Given the description of an element on the screen output the (x, y) to click on. 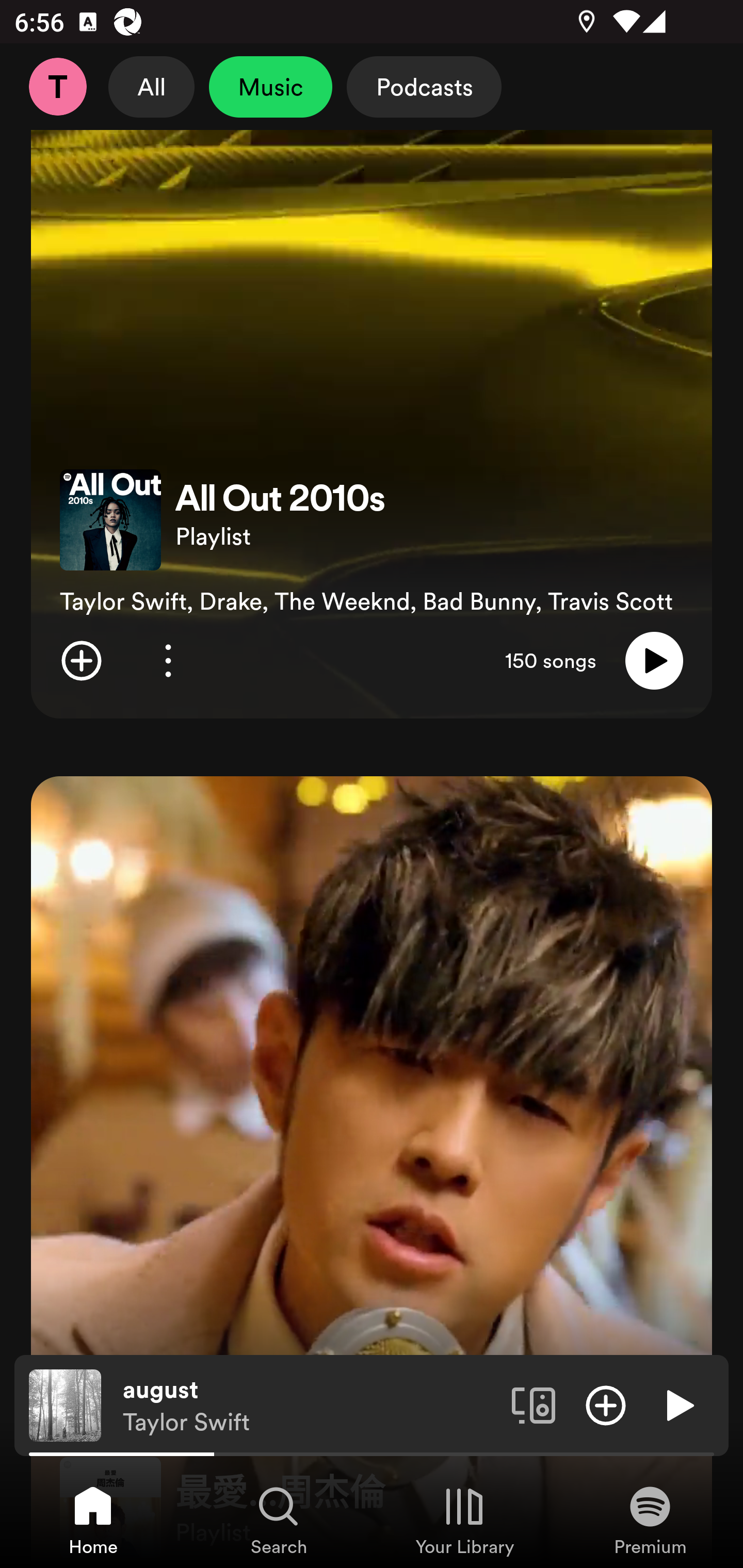
Profile (57, 86)
All Select All (151, 86)
Music Unselect Music (270, 86)
Podcasts Select Podcasts (423, 86)
Add item (80, 660)
Play (653, 660)
august Taylor Swift (309, 1405)
The cover art of the currently playing track (64, 1404)
Connect to a device. Opens the devices menu (533, 1404)
Add item (605, 1404)
Play (677, 1404)
Home, Tab 1 of 4 Home Home (92, 1519)
Search, Tab 2 of 4 Search Search (278, 1519)
Your Library, Tab 3 of 4 Your Library Your Library (464, 1519)
Premium, Tab 4 of 4 Premium Premium (650, 1519)
